Given the description of an element on the screen output the (x, y) to click on. 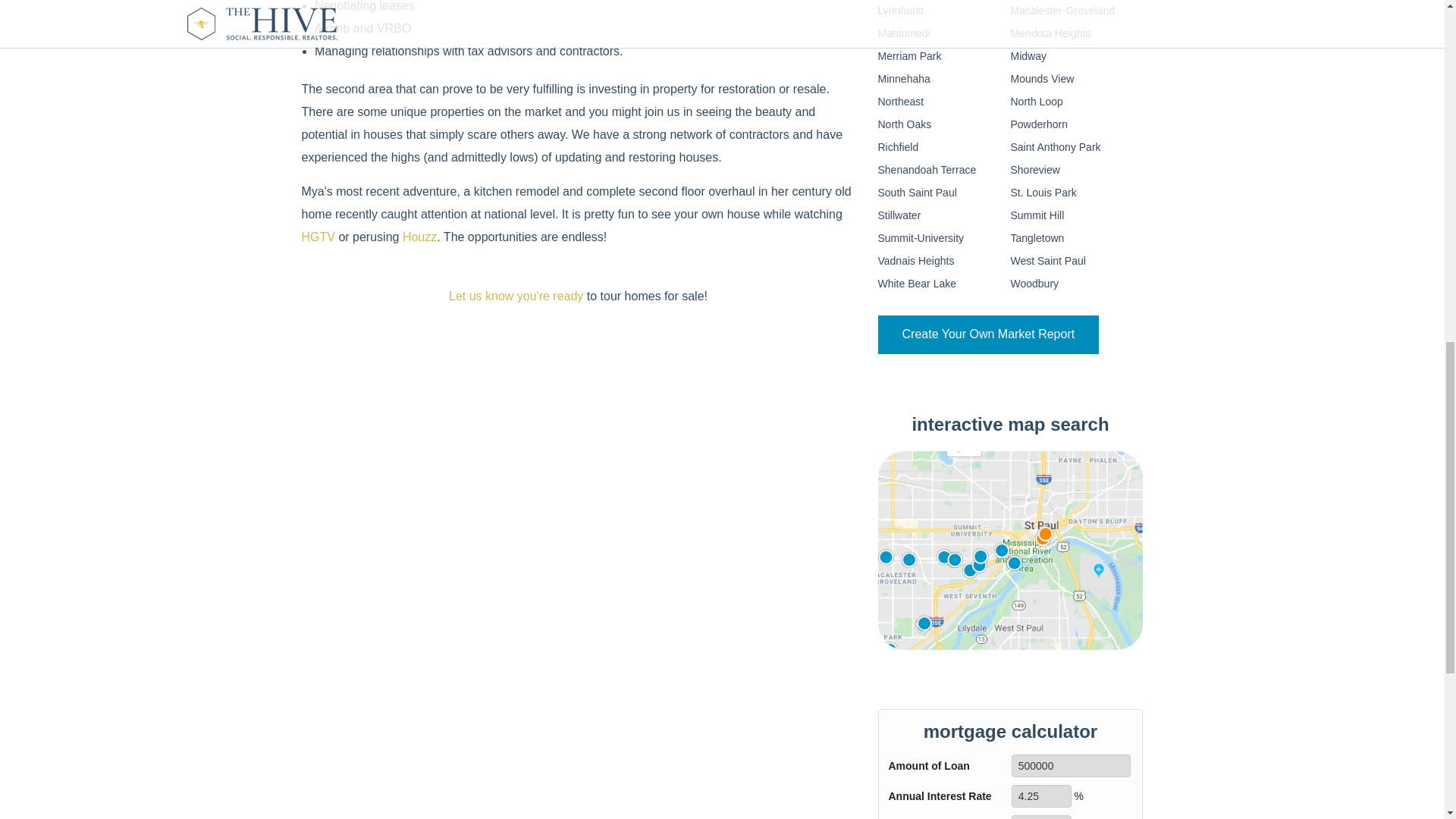
Twin Cities Real Estate Map Search (1009, 549)
30 (1041, 816)
HGTV (317, 236)
Let us know you're ready (515, 295)
Houzz (419, 236)
500000 (1071, 765)
4.25 (1041, 795)
